Given the description of an element on the screen output the (x, y) to click on. 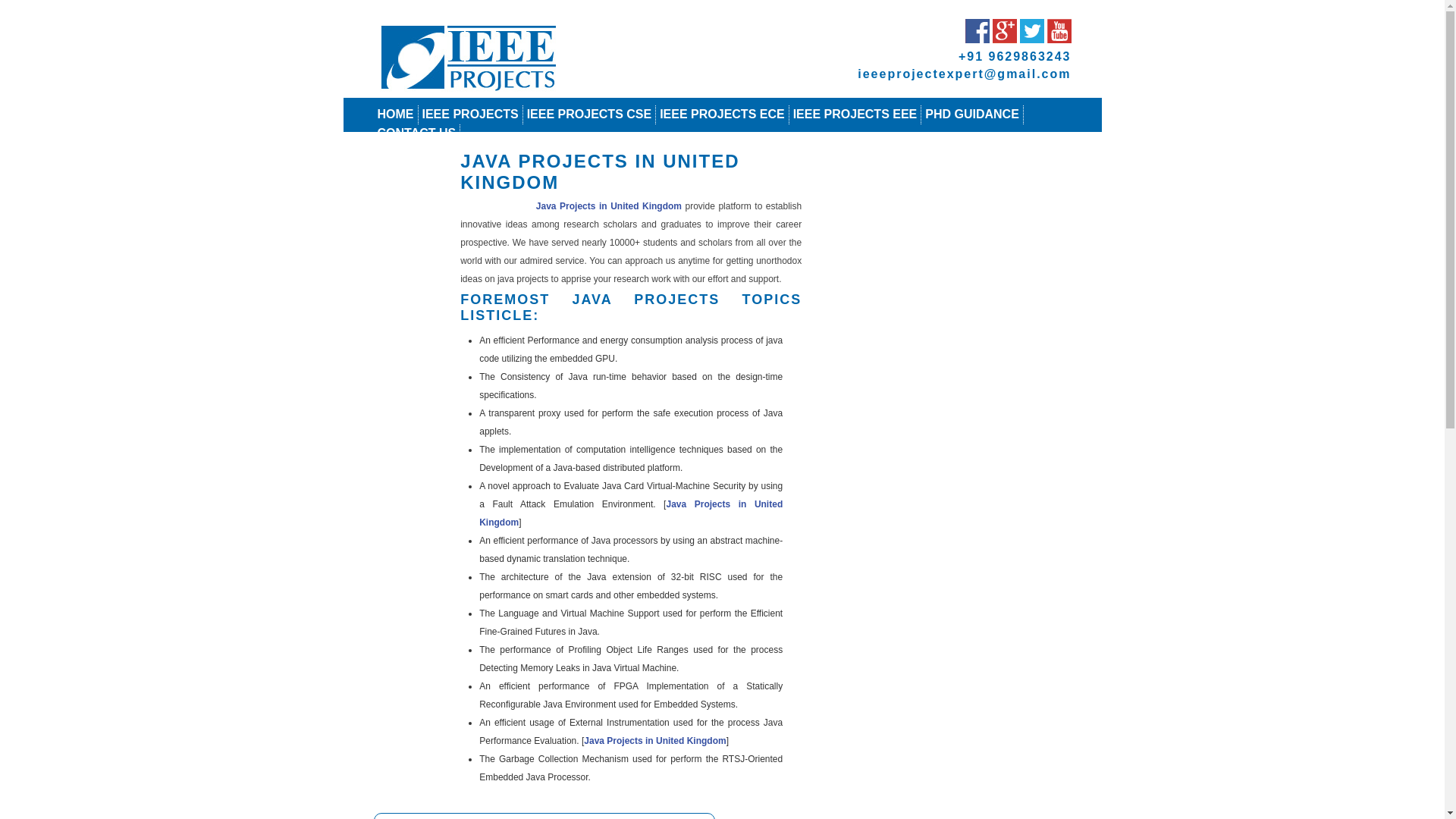
IEEE PROJECTS CSE (589, 113)
HOME (395, 113)
Java Projects in United Kingdom (631, 512)
PHD GUIDANCE (971, 113)
IEEE PROJECTS EEE (855, 113)
IEEE PROJECTS ECE (721, 113)
IEEE PROJECTS (470, 113)
Java Projects in United Kingdom (654, 740)
CONTACT US (417, 132)
Java Projects in United Kingdom (608, 205)
